Given the description of an element on the screen output the (x, y) to click on. 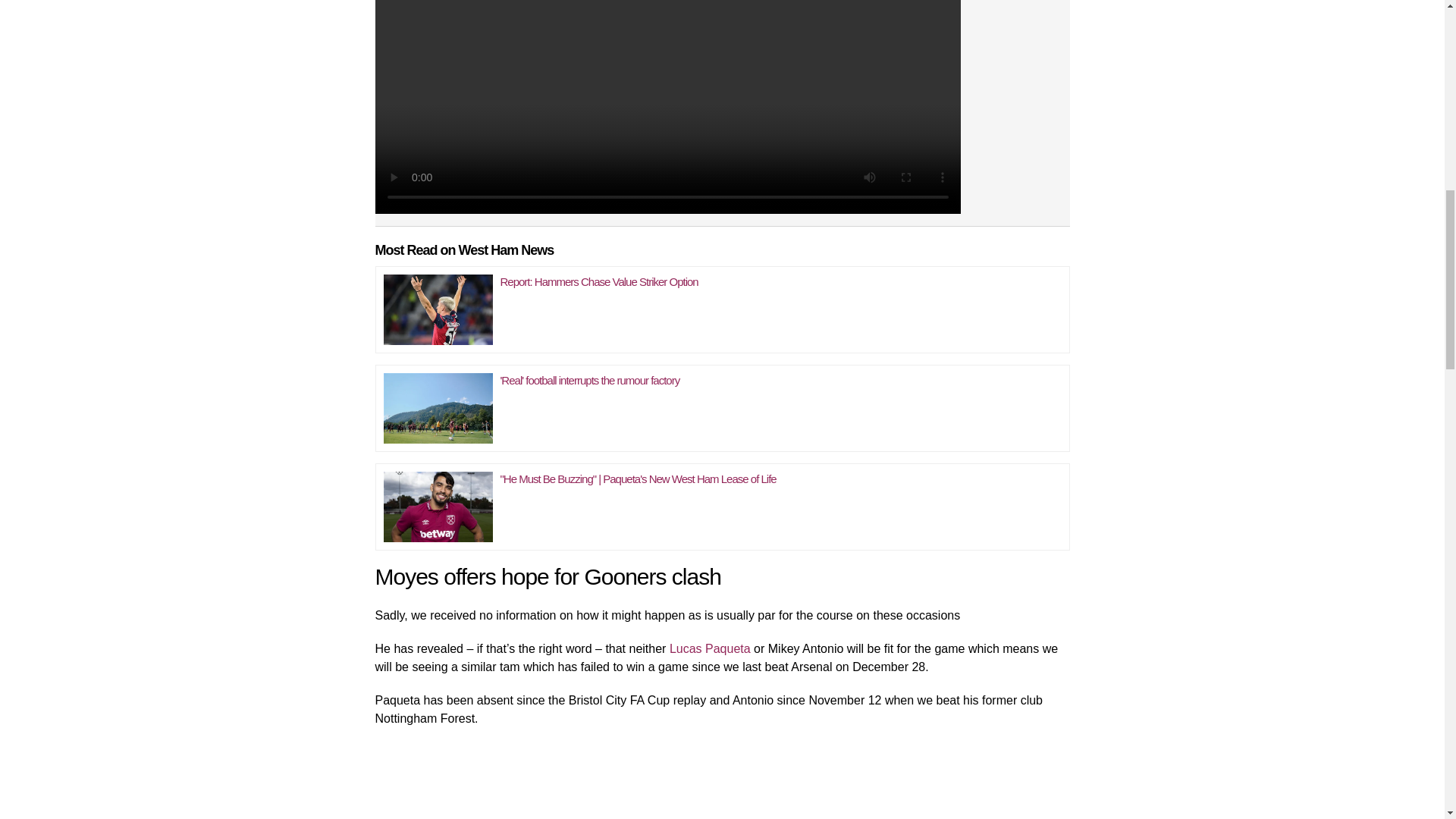
Report: Hammers Chase Value Striker Option (599, 281)
'Real' football interrupts the rumour factory (589, 379)
Report: Hammers Chase Value Striker Option (437, 305)
'Real' football interrupts the rumour factory (437, 404)
Lucas Paqueta (707, 648)
